Given the description of an element on the screen output the (x, y) to click on. 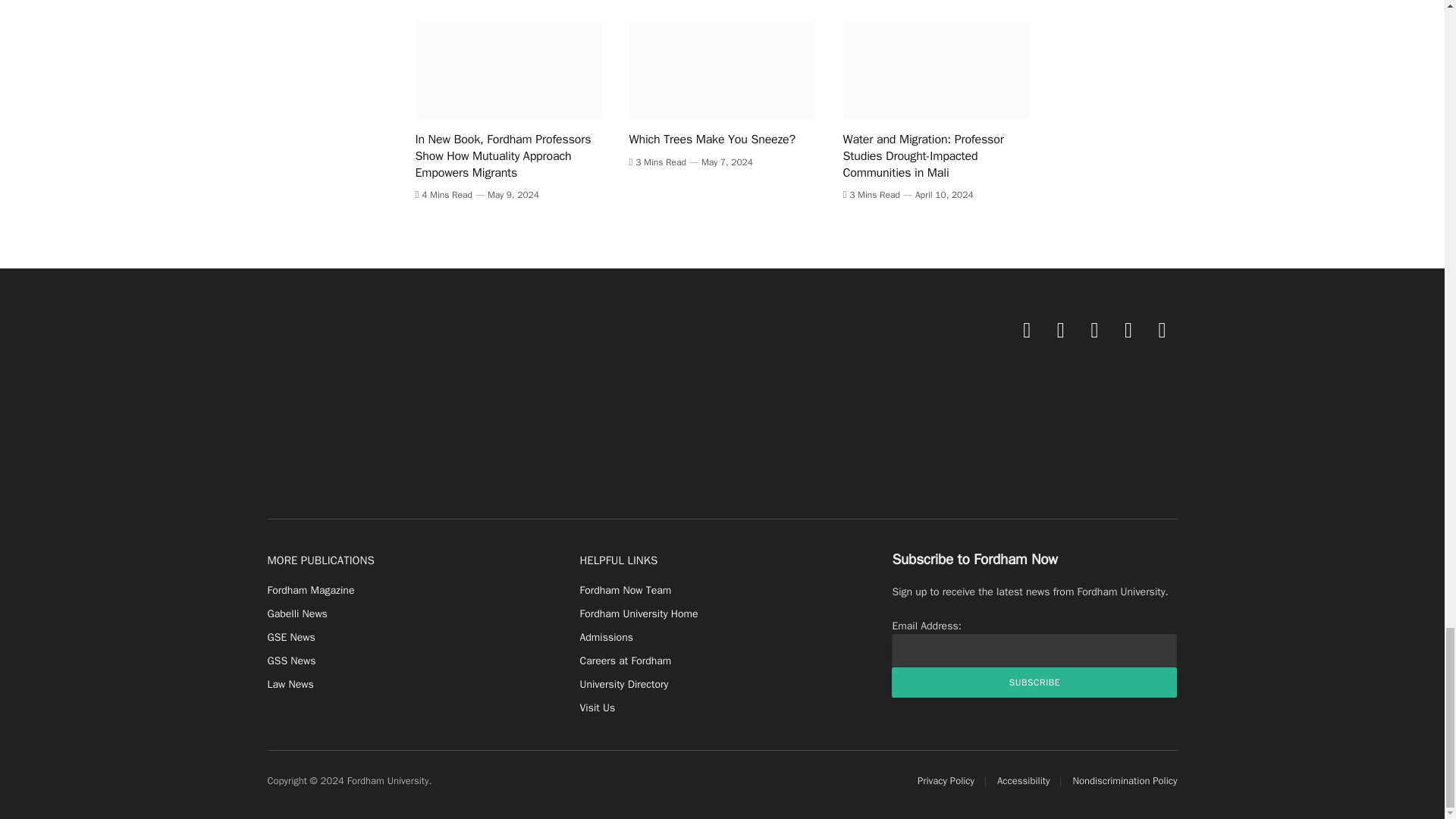
Which Trees Make You Sneeze? (721, 69)
Subscribe (1033, 682)
